Given the description of an element on the screen output the (x, y) to click on. 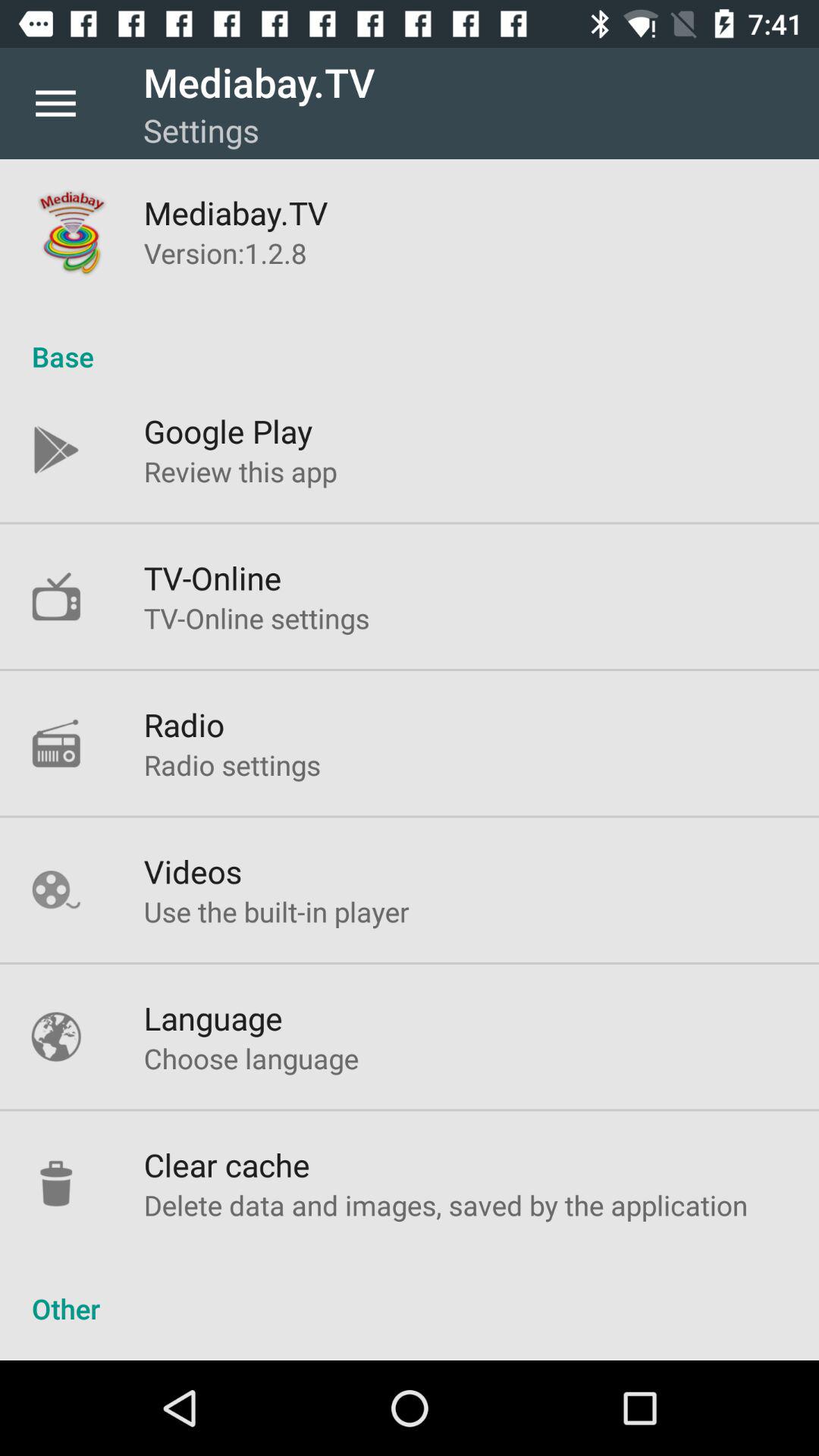
open item above the other icon (445, 1204)
